Given the description of an element on the screen output the (x, y) to click on. 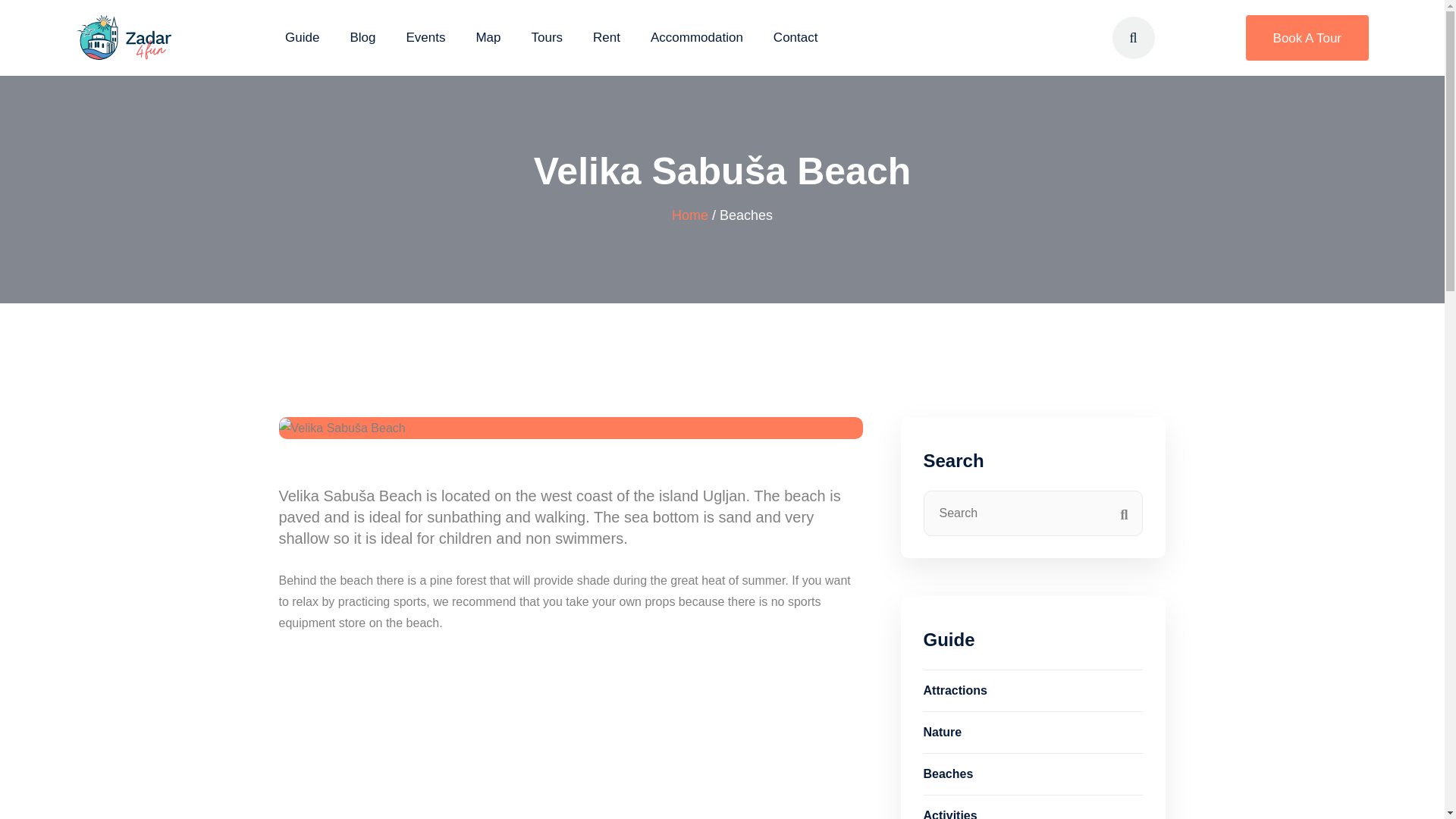
Contact (795, 37)
Tours (546, 37)
Map (488, 37)
Book A Tour (1307, 37)
Guide (301, 37)
Beaches (1032, 773)
Accommodation (696, 37)
Home (689, 215)
Blog (362, 37)
Events (425, 37)
Nature (1032, 731)
Attractions (1032, 690)
Activities (1032, 806)
Rent (606, 37)
